Given the description of an element on the screen output the (x, y) to click on. 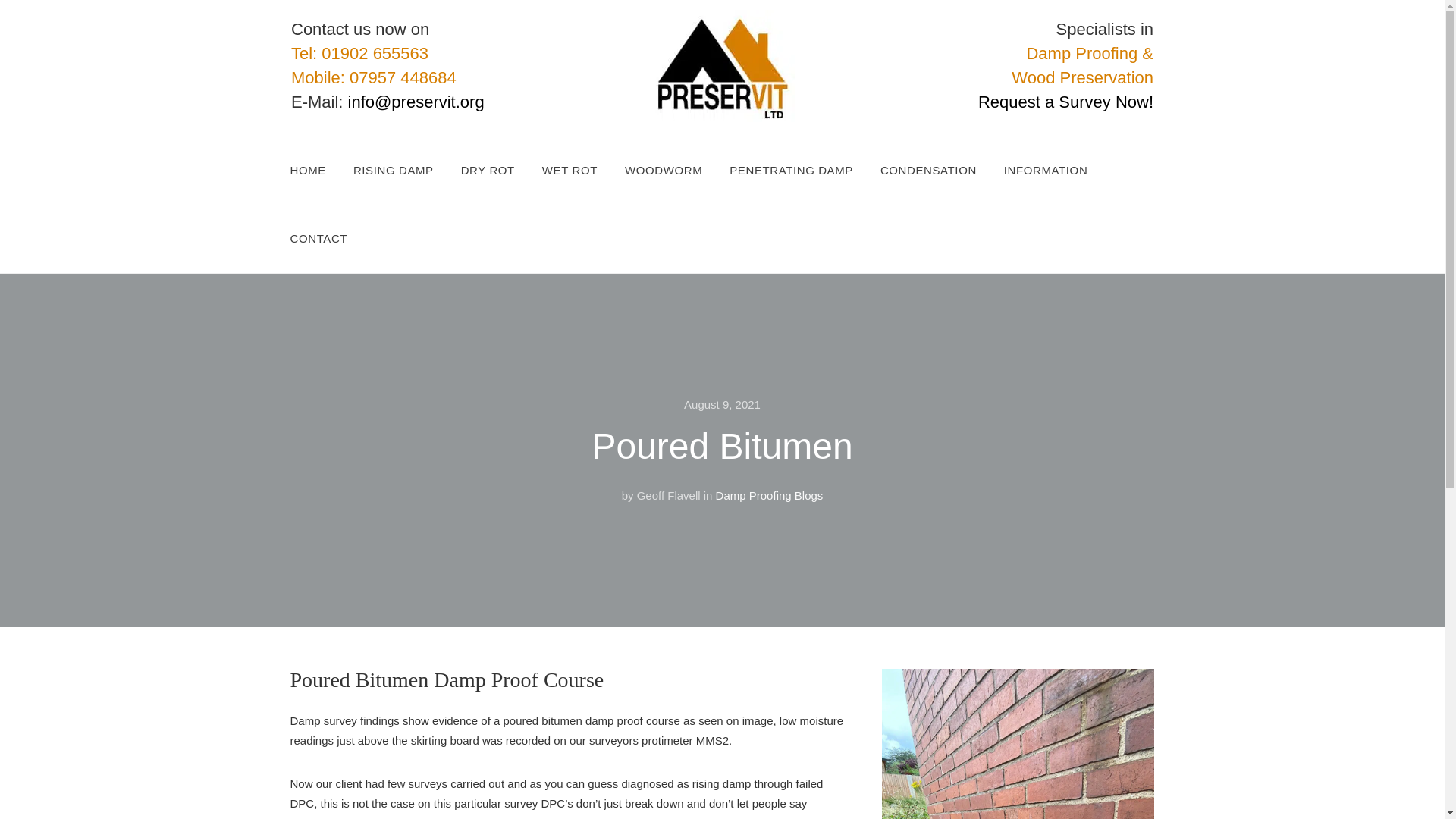
WOODWORM (676, 170)
DRY ROT (501, 170)
Mobile: 07957 448684 (374, 76)
INFORMATION (1059, 170)
WET ROT (582, 170)
CONDENSATION (942, 170)
Damp Proofing Blogs (770, 495)
PENETRATING DAMP (804, 170)
Request a Survey Now! (1065, 101)
HOME (320, 170)
